Given the description of an element on the screen output the (x, y) to click on. 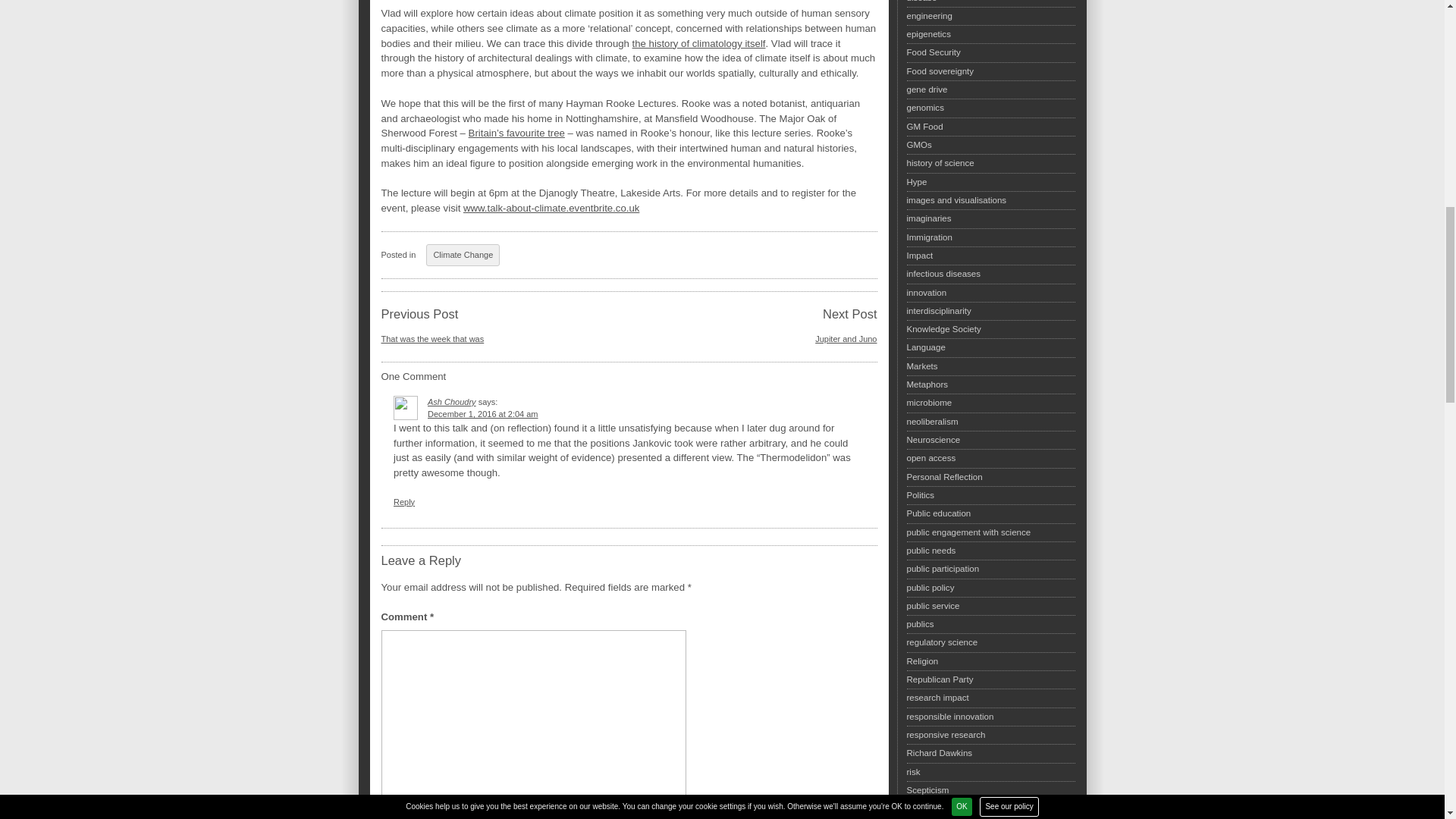
the history of climatology itself (698, 43)
www.talk-about-climate.eventbrite.co.uk (551, 207)
Climate Change (462, 255)
